Given the description of an element on the screen output the (x, y) to click on. 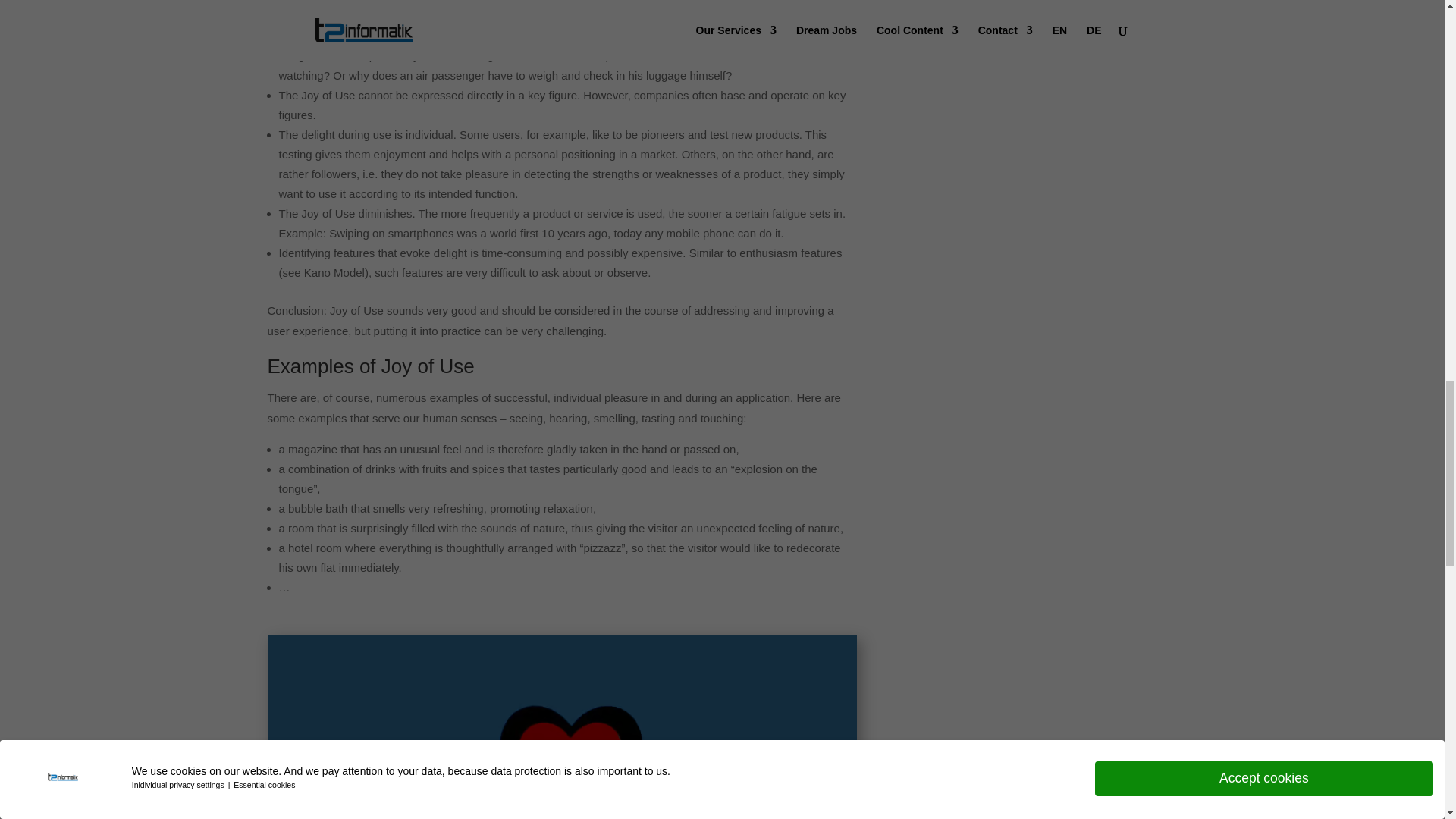
Joy of Use: usability that is fun and enjoyable (561, 727)
